Given the description of an element on the screen output the (x, y) to click on. 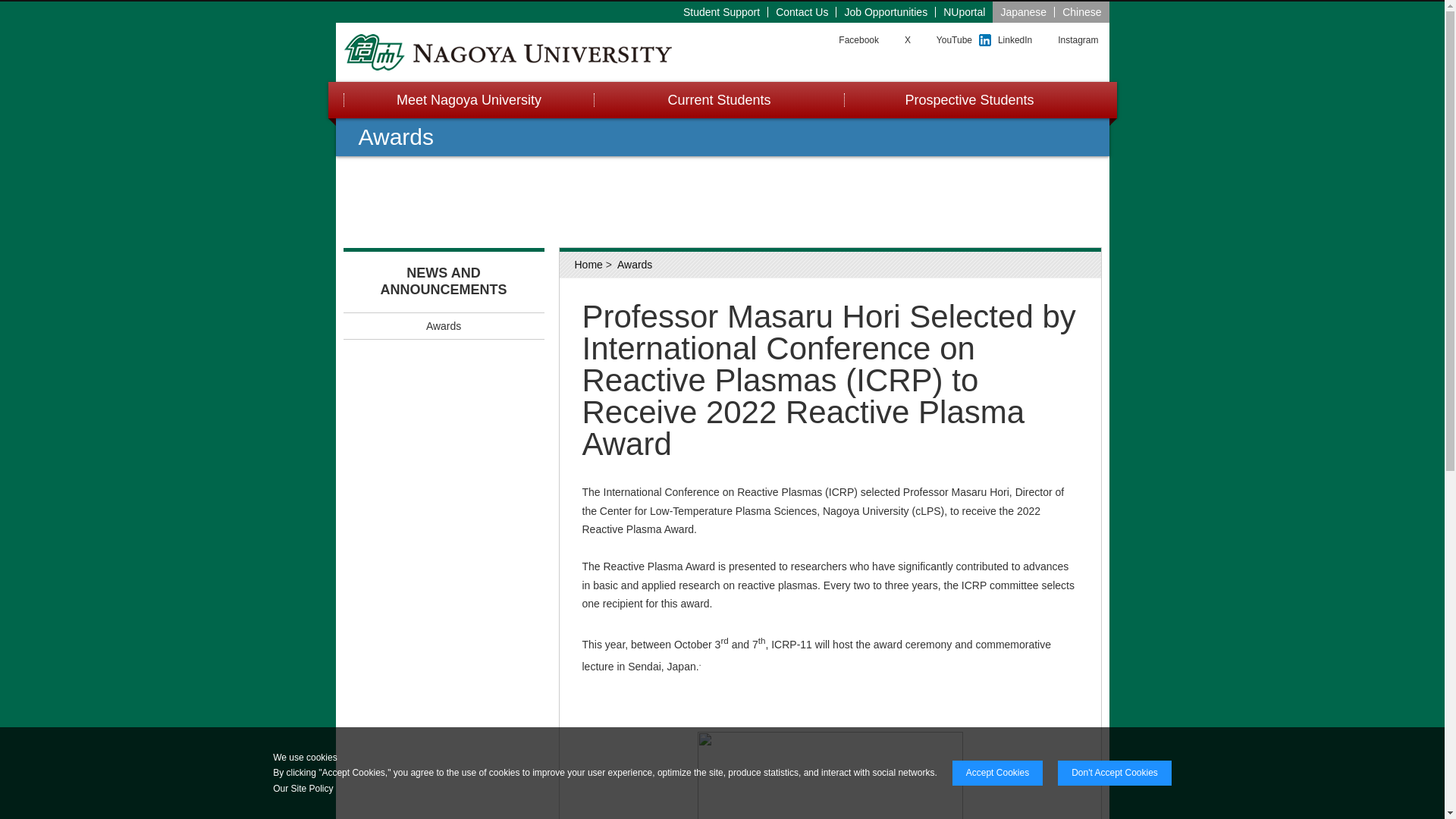
Job Opportunities (885, 11)
Home (588, 264)
Contact Us (801, 11)
Current Students (717, 99)
NUportal (964, 11)
LinkedIn (1014, 40)
Prospective Students (968, 99)
Chinese (1081, 11)
Japanese (1023, 11)
Student Support (721, 11)
Meet Nagoya University (467, 99)
Instagram (1077, 40)
Facebook (858, 40)
YouTube (954, 40)
